Given the description of an element on the screen output the (x, y) to click on. 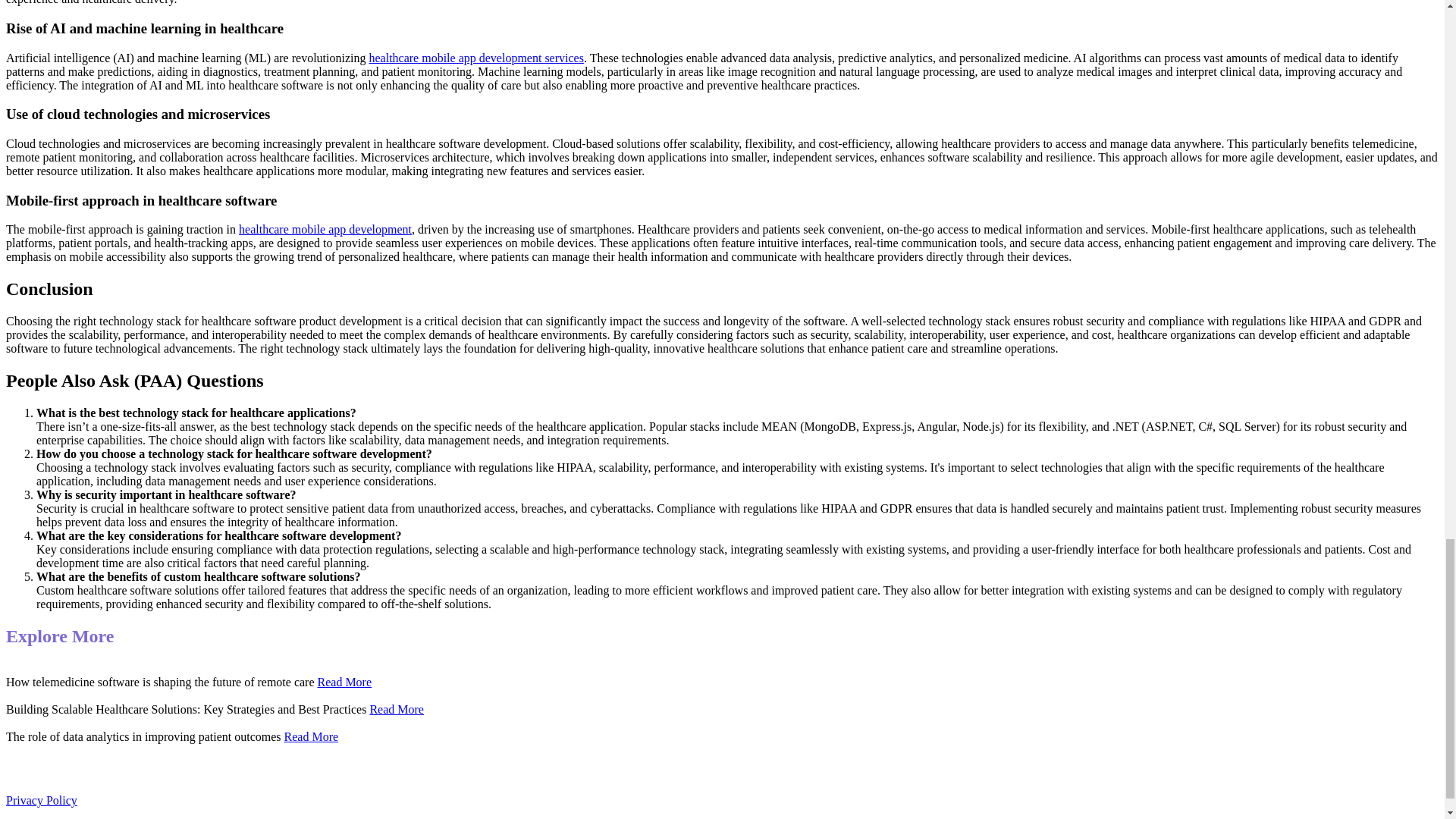
Read More (311, 736)
Read More (344, 681)
Read More (396, 708)
healthcare mobile app development services (475, 57)
healthcare mobile app development (325, 228)
